Given the description of an element on the screen output the (x, y) to click on. 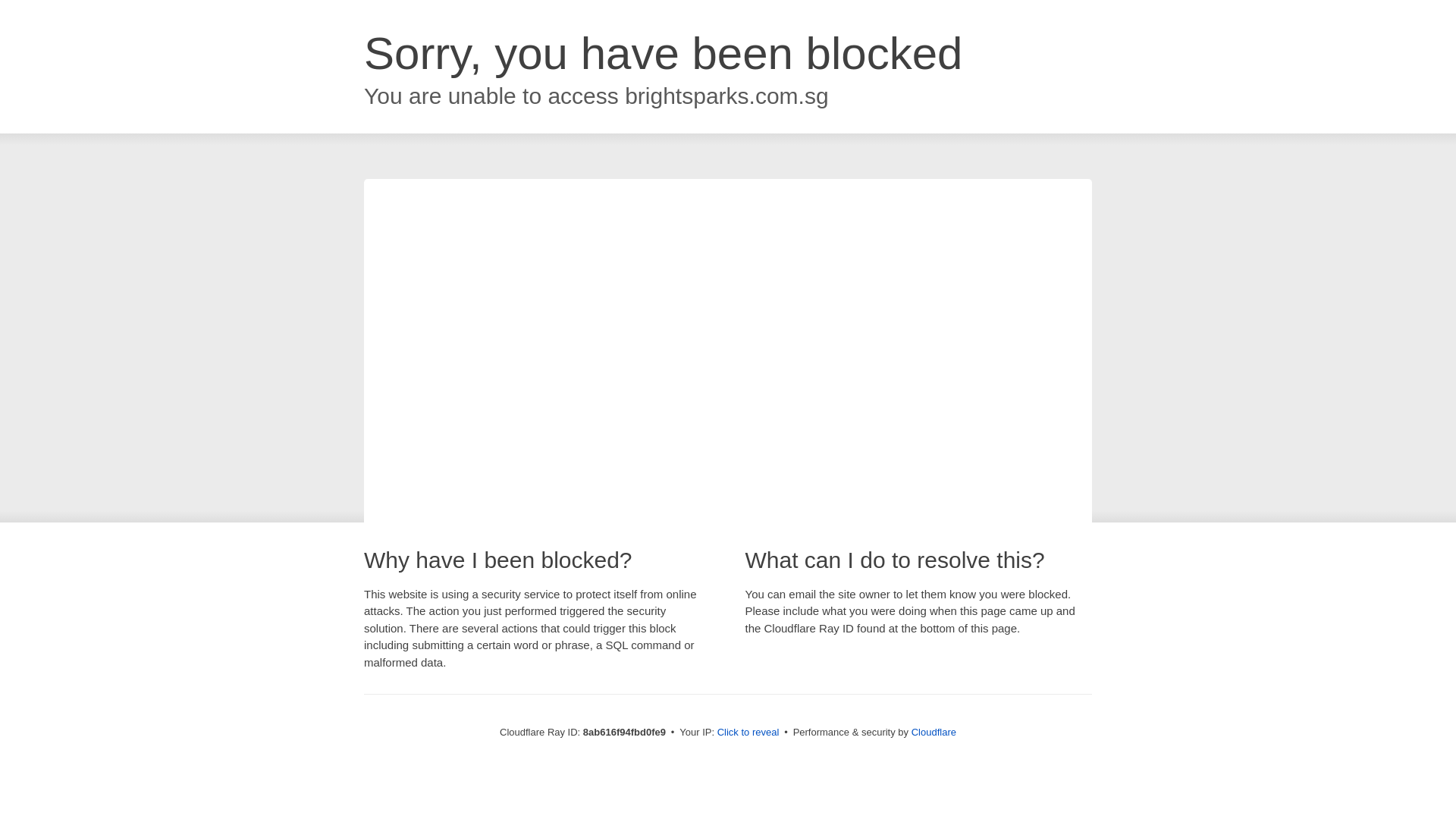
Cloudflare (933, 731)
Click to reveal (747, 732)
